Given the description of an element on the screen output the (x, y) to click on. 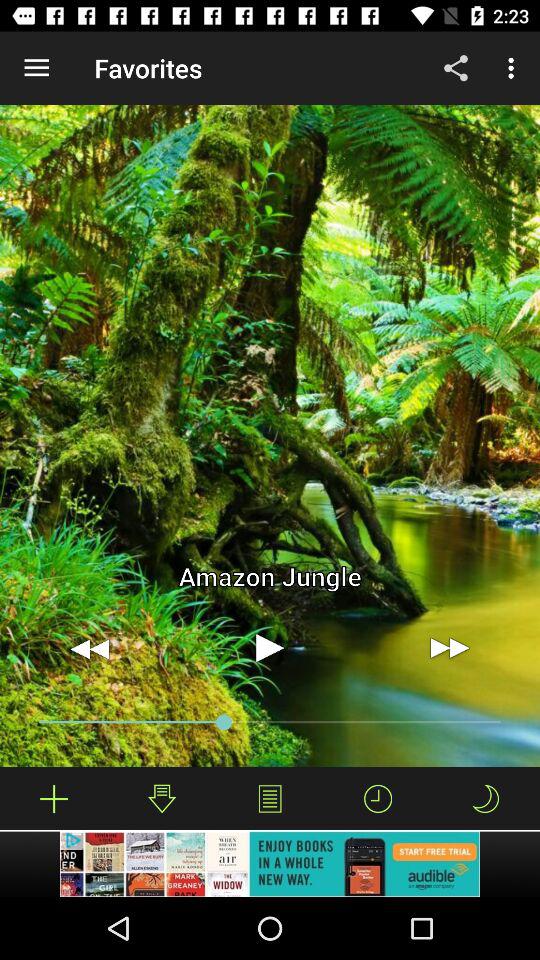
forward button (450, 648)
